Given the description of an element on the screen output the (x, y) to click on. 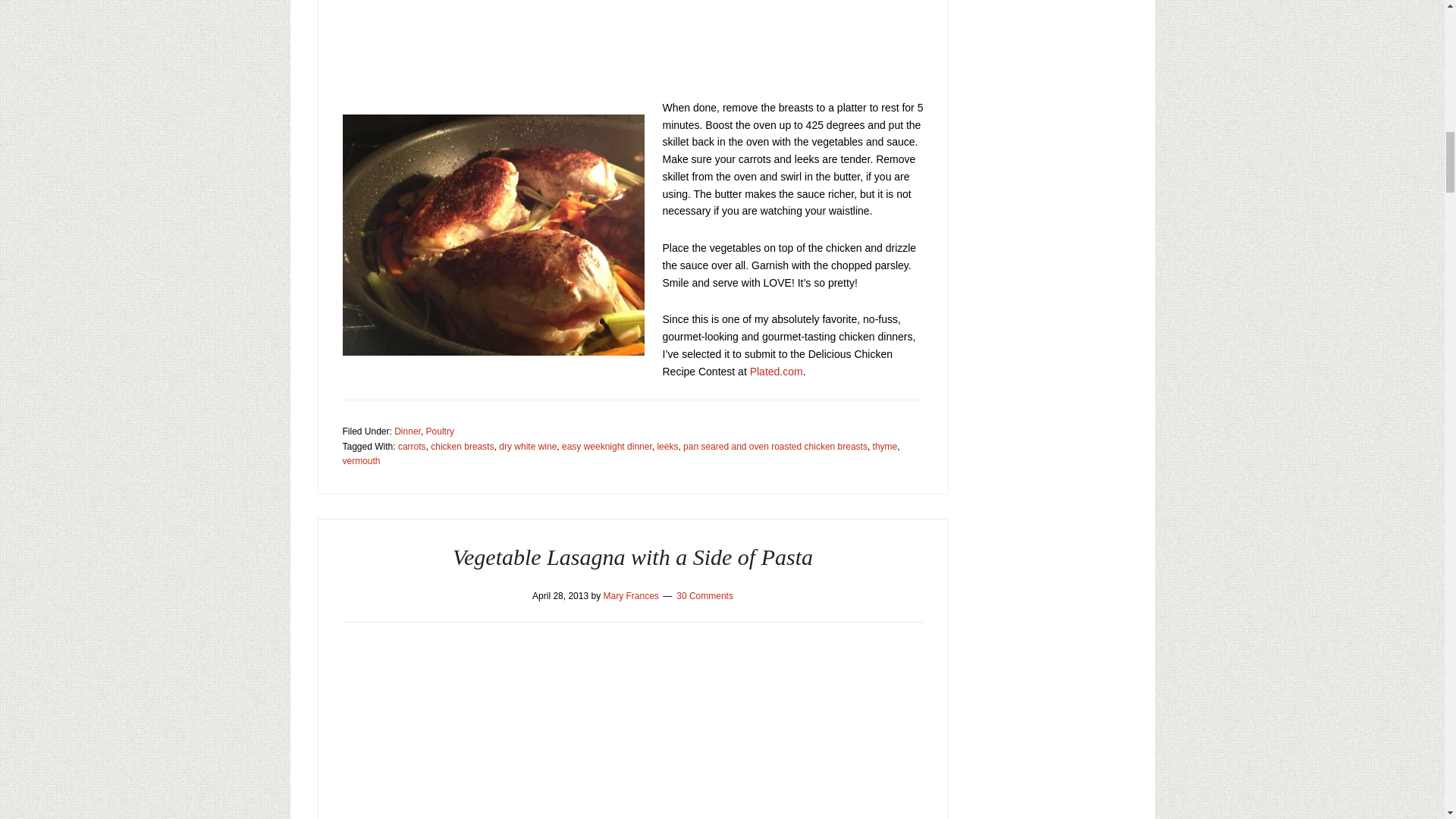
pan seared and oven roasted chicken breasts (774, 446)
Plated.com (776, 371)
dry white wine (527, 446)
Vegetable Lasagna with a Side of Pasta (632, 556)
30 Comments (705, 595)
easy weeknight dinner (607, 446)
leeks (667, 446)
vermouth (361, 460)
chicken breasts (461, 446)
Mary Frances (631, 595)
carrots (411, 446)
Dinner (407, 430)
thyme (885, 446)
Poultry (440, 430)
